Given the description of an element on the screen output the (x, y) to click on. 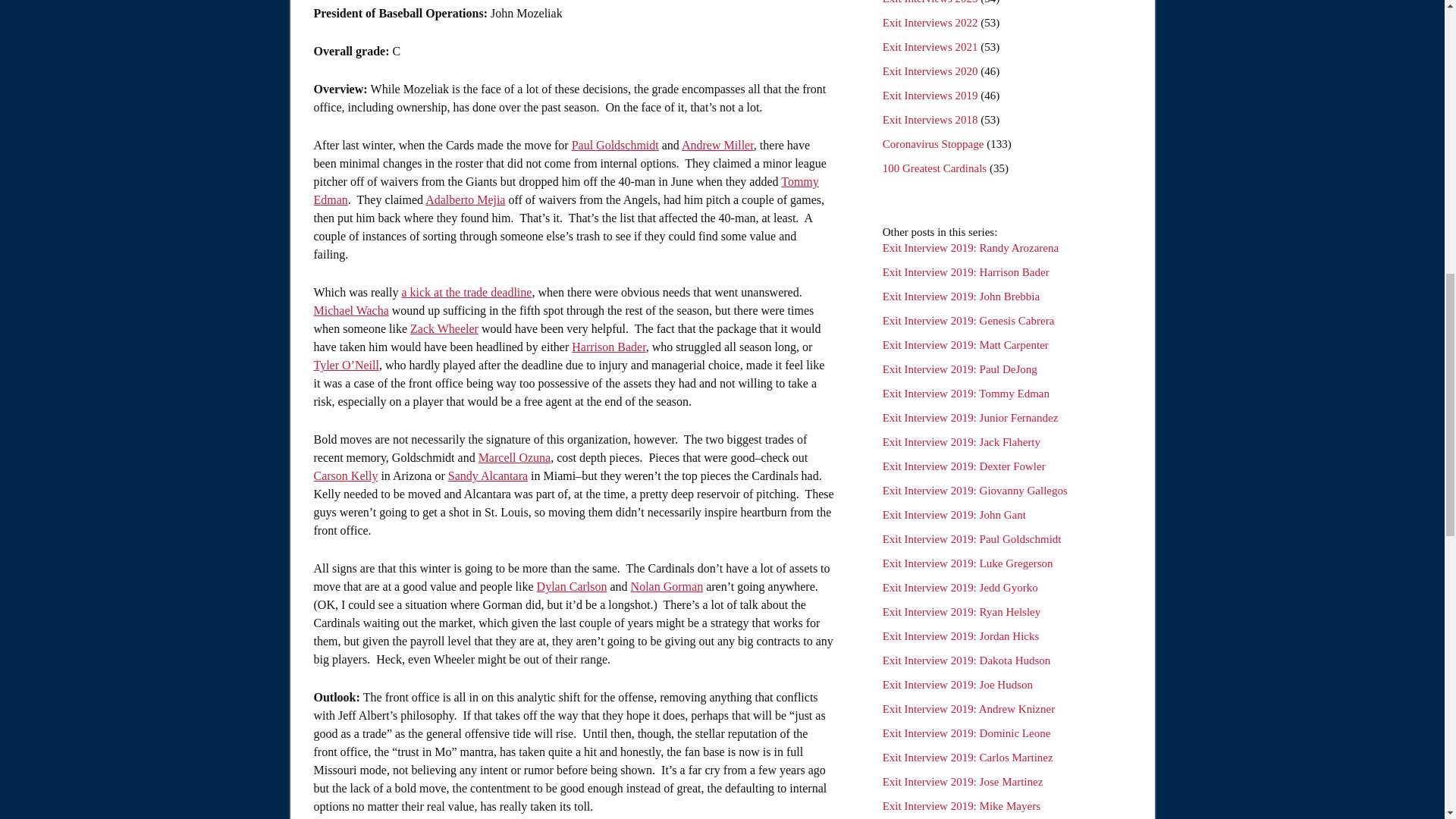
Exit Interview 2019: Randy Arozarena (970, 247)
Exit Interview 2019: Junior Fernandez (970, 417)
Exit Interview 2019: Tommy Edman (965, 393)
Exit Interview 2019: Harrison Bader (965, 272)
Exit Interview 2019: Genesis Cabrera (968, 320)
Exit Interview 2019: Matt Carpenter (965, 345)
Exit Interview 2019: John Brebbia (960, 296)
Exit Interview 2019: Paul DeJong (959, 369)
